Given the description of an element on the screen output the (x, y) to click on. 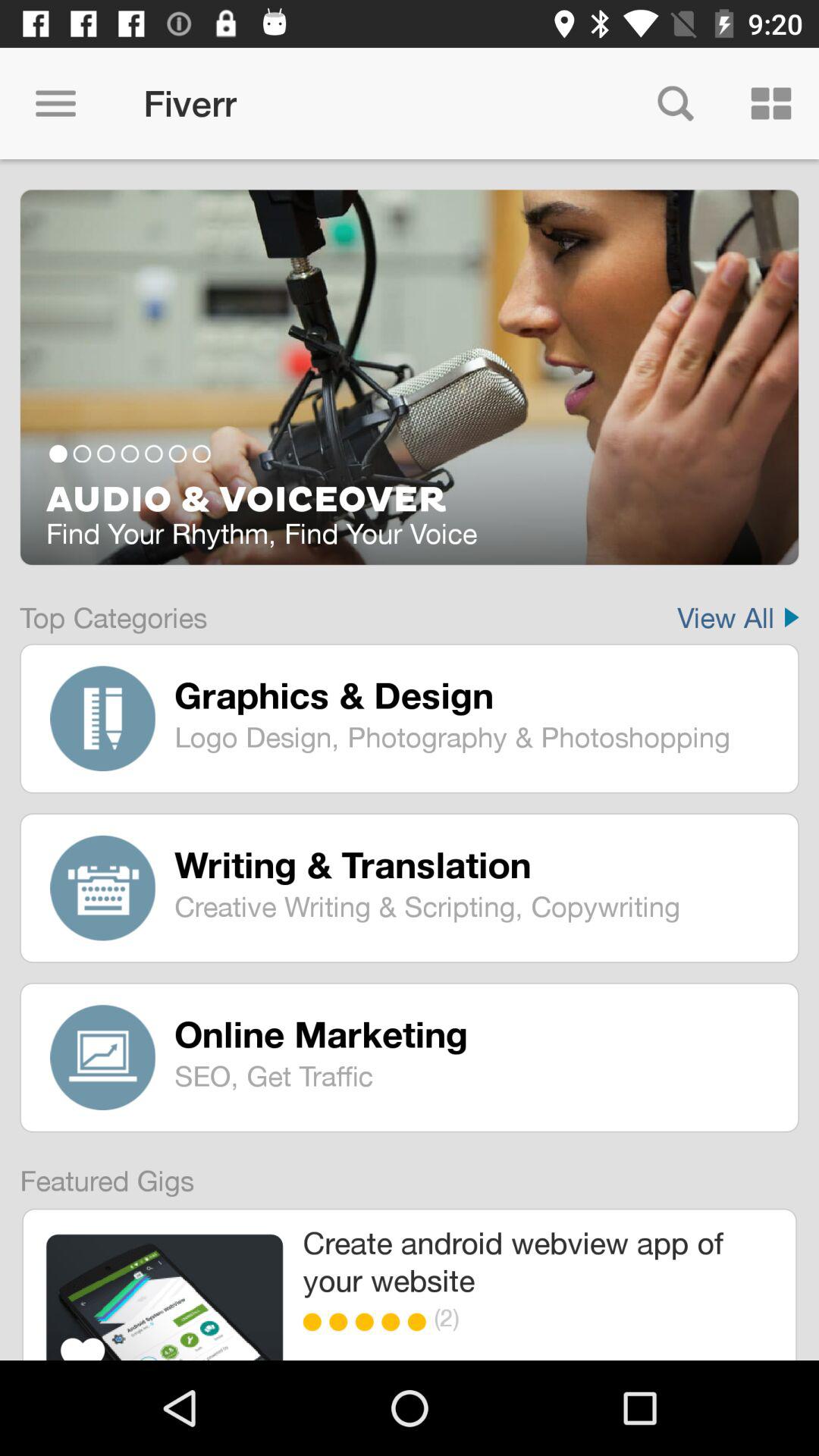
select view all on the right (738, 607)
